Given the description of an element on the screen output the (x, y) to click on. 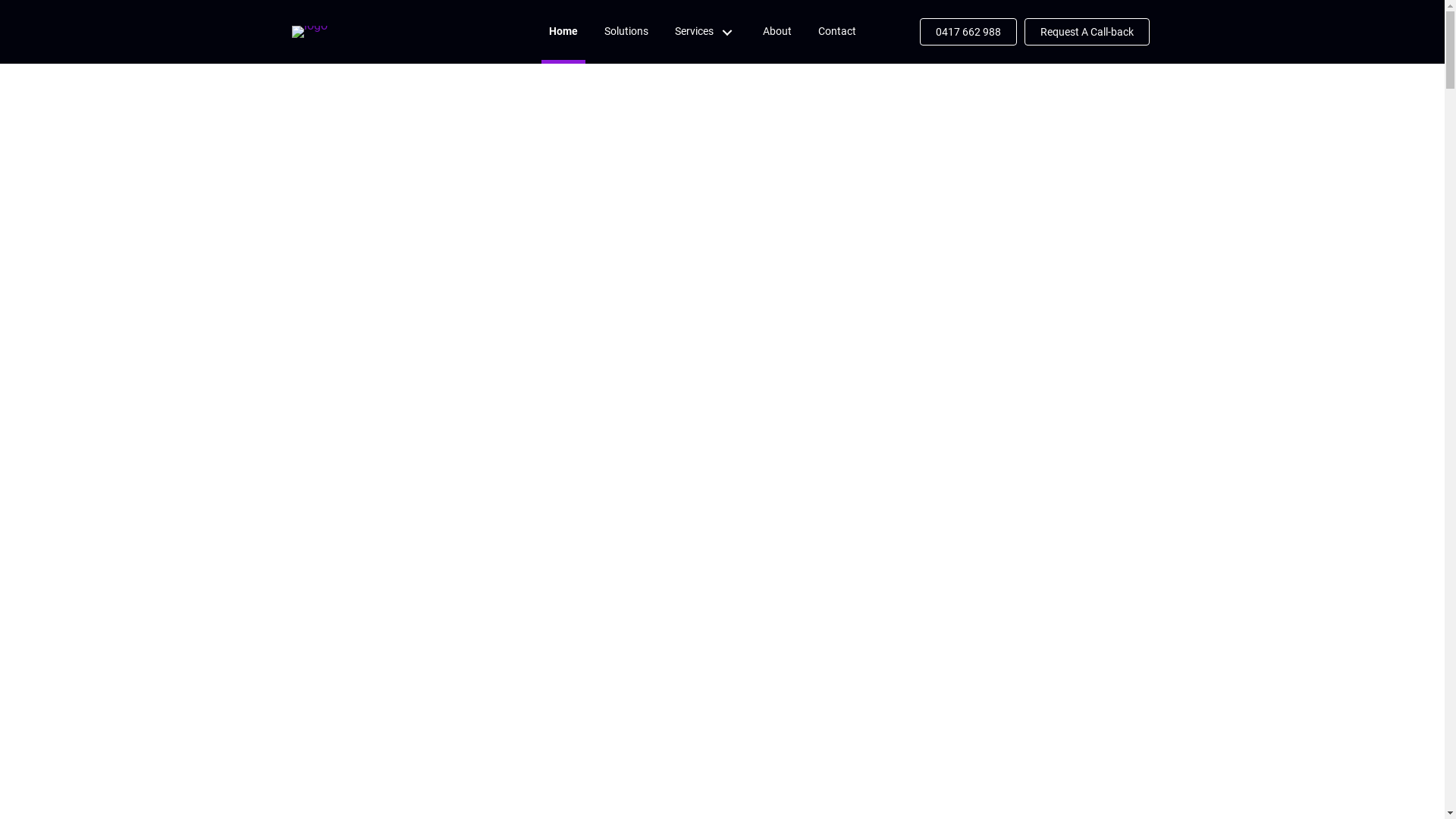
0417 662 988 Element type: text (967, 32)
Solutions Element type: text (625, 31)
REQUEST A CALL-BACK Element type: text (722, 752)
logo Element type: hover (308, 31)
LEARN MORE Element type: text (722, 459)
Services Element type: text (705, 29)
Request A Call-back Element type: text (1085, 32)
Home Element type: text (563, 31)
Contact Element type: text (836, 31)
About Element type: text (777, 31)
